Given the description of an element on the screen output the (x, y) to click on. 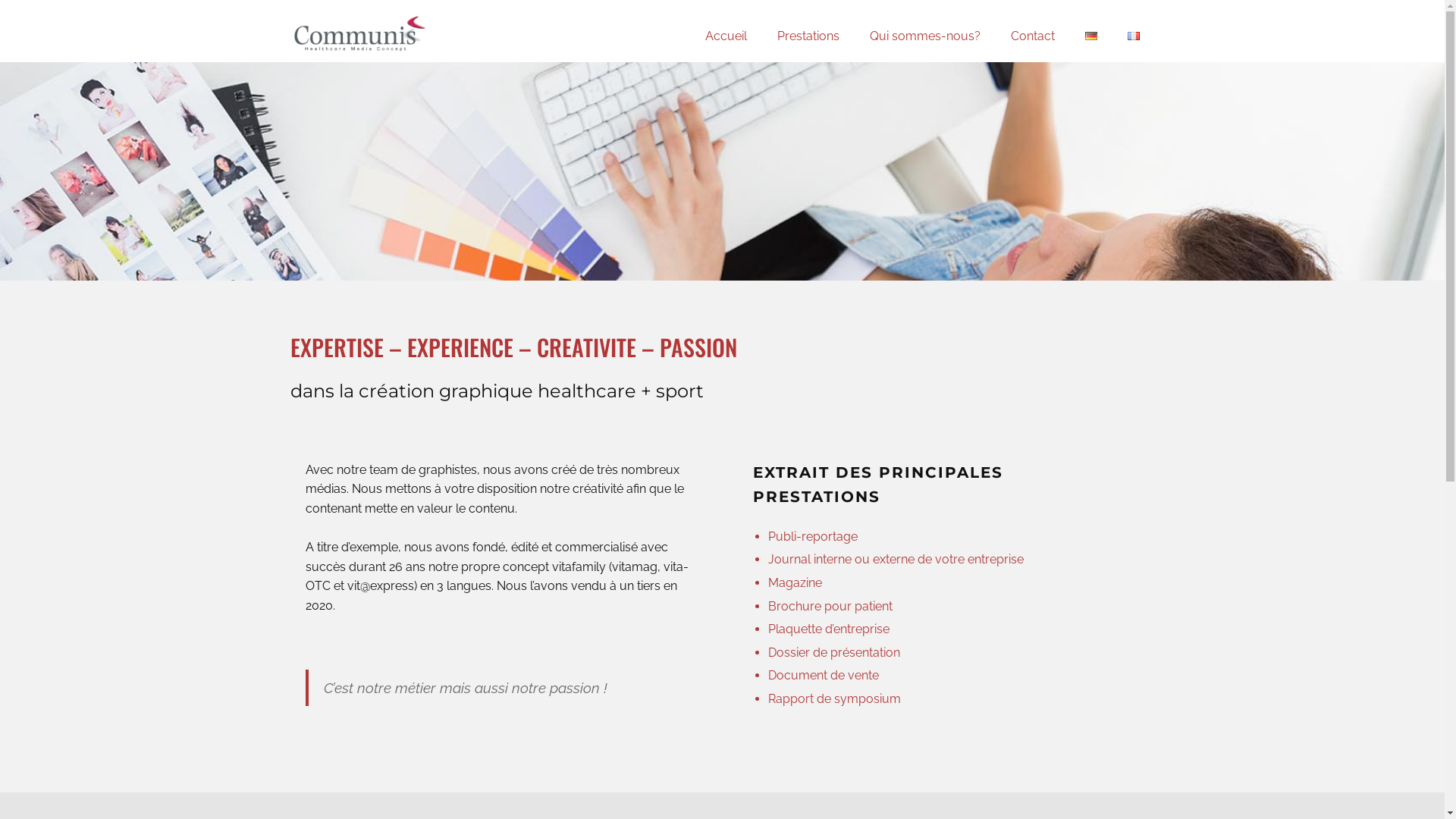
Prestations Element type: text (807, 36)
Contact Element type: text (1031, 36)
Accueil Element type: text (726, 36)
Deutsch Element type: hover (1090, 35)
Qui sommes-nous? Element type: text (923, 36)
